Given the description of an element on the screen output the (x, y) to click on. 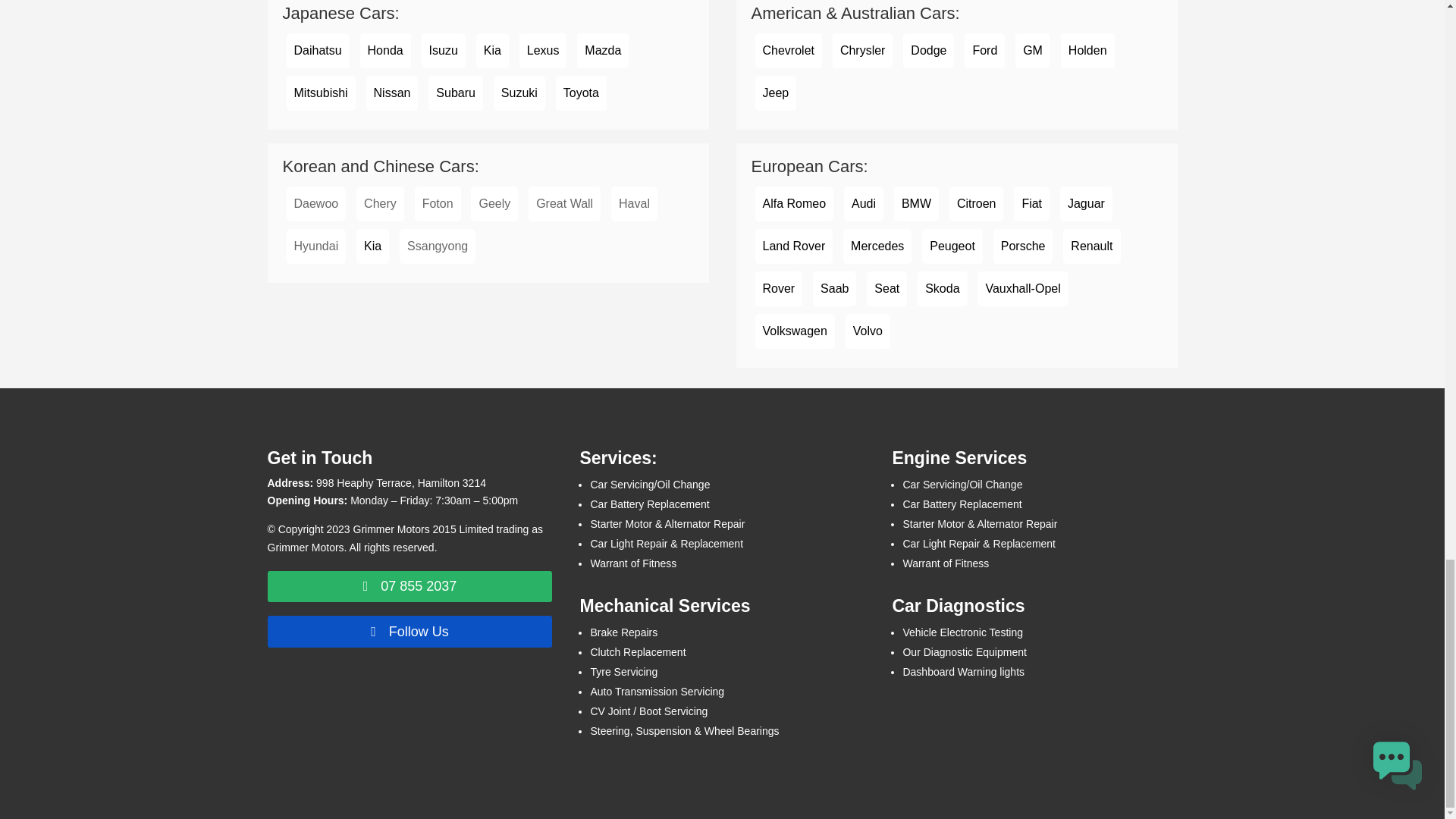
MTA Logo Full Badge - blue (367, 729)
